Given the description of an element on the screen output the (x, y) to click on. 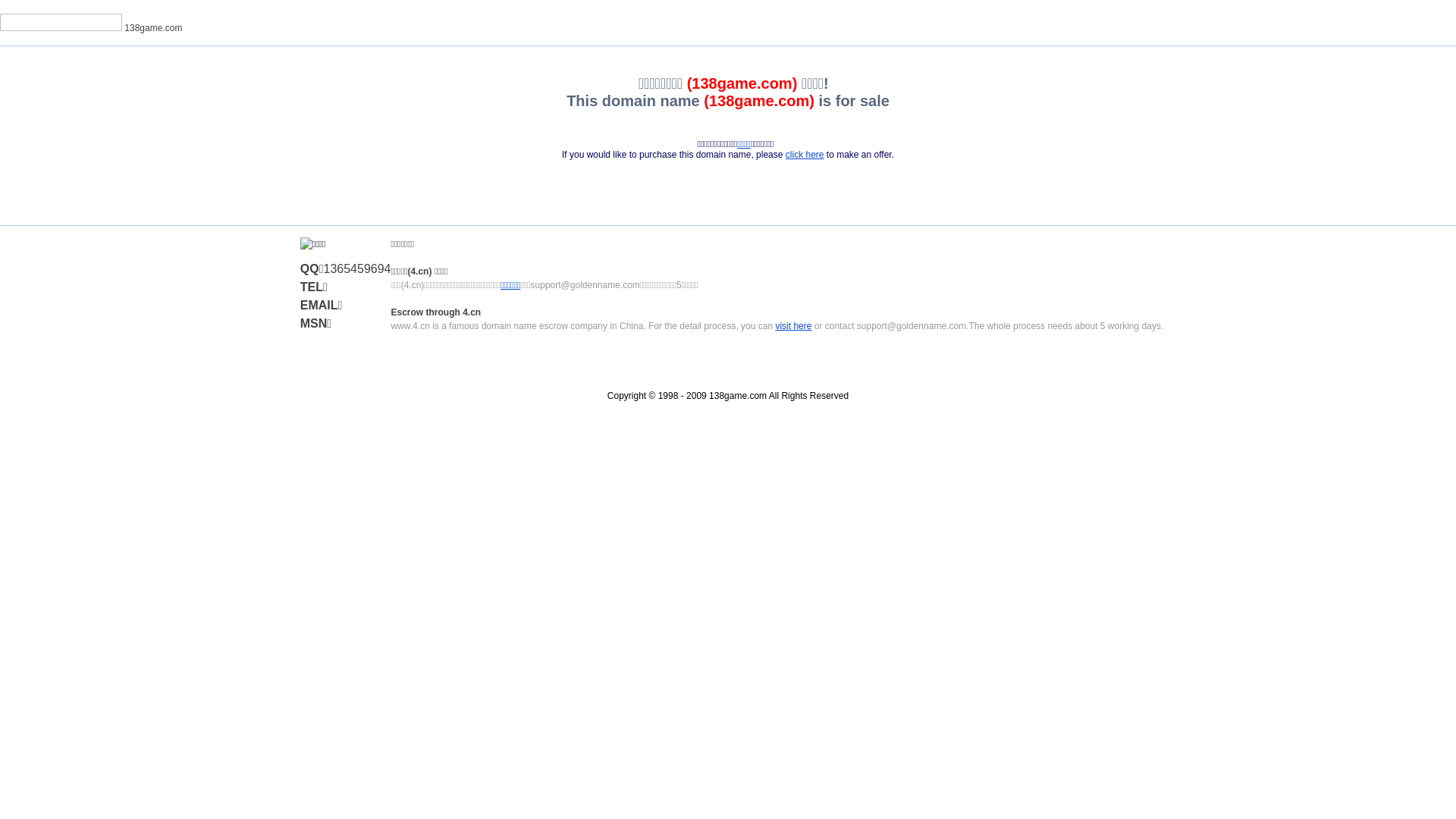
visit here Element type: text (793, 325)
click here Element type: text (804, 154)
